Given the description of an element on the screen output the (x, y) to click on. 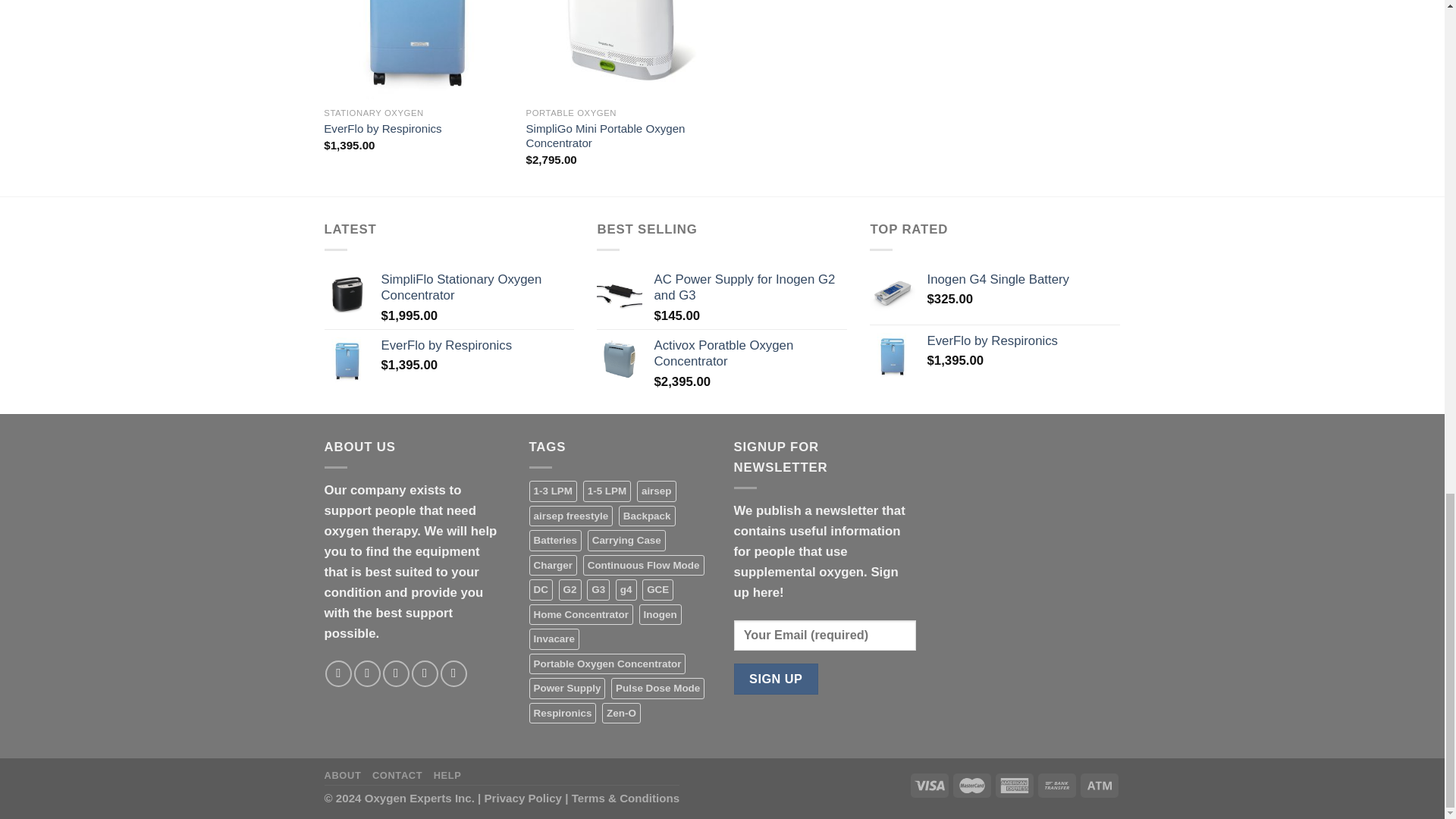
Sign Up (775, 678)
